Given the description of an element on the screen output the (x, y) to click on. 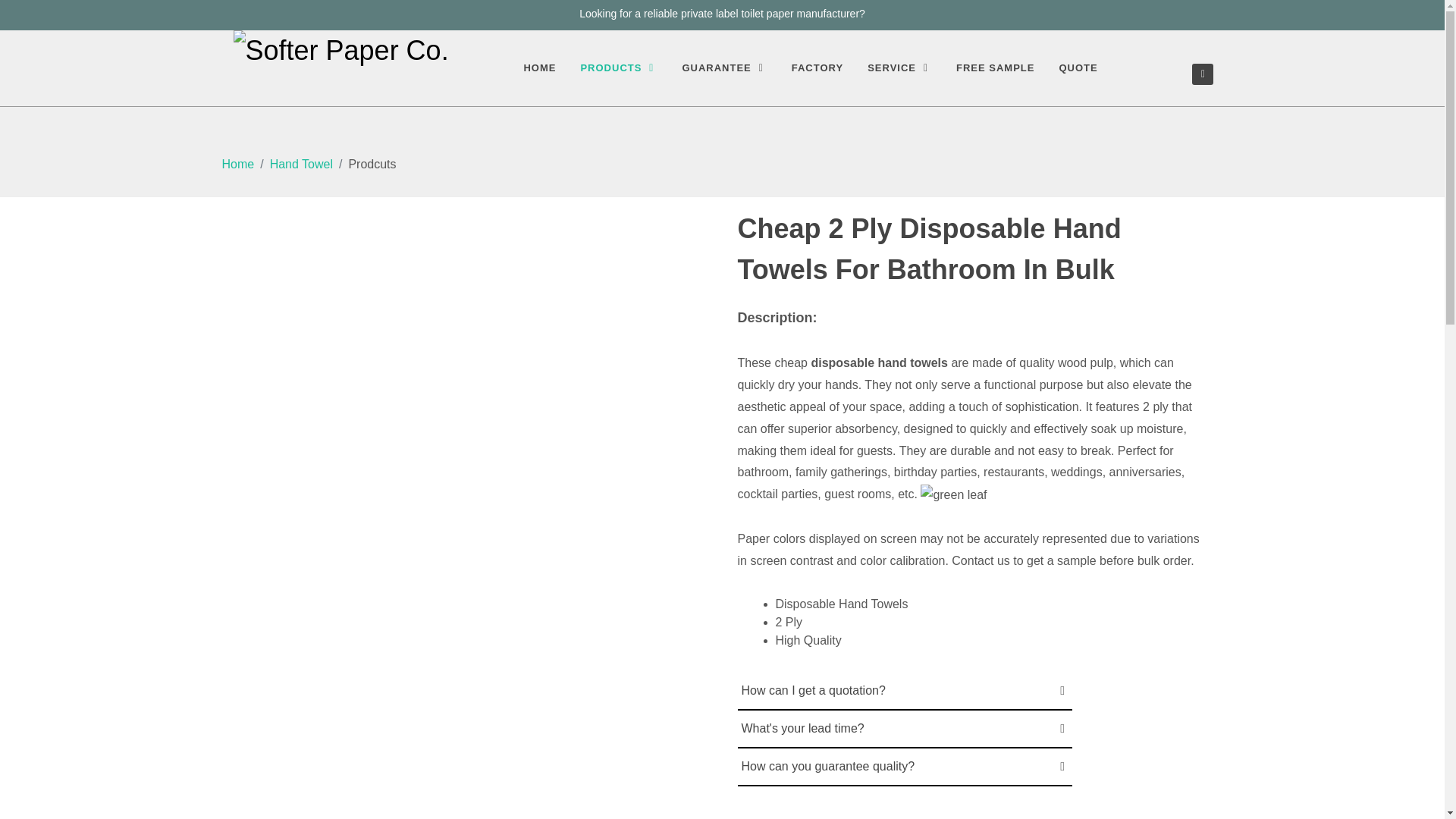
PRODUCTS (618, 68)
green leaf (953, 495)
FACTORY (817, 68)
GUARANTEE (723, 68)
SERVICE (899, 68)
